Given the description of an element on the screen output the (x, y) to click on. 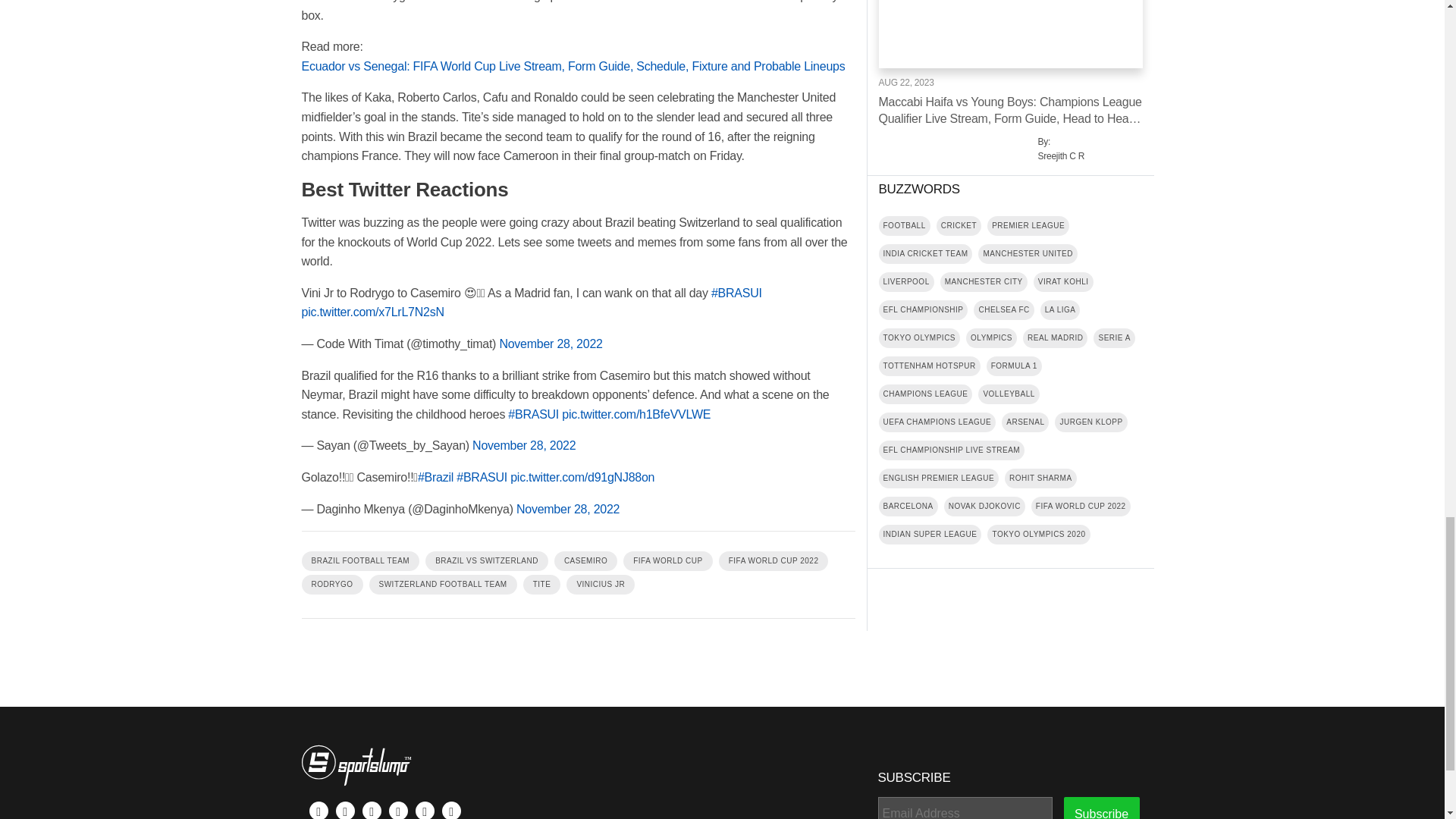
Subscribe (1100, 807)
